Given the description of an element on the screen output the (x, y) to click on. 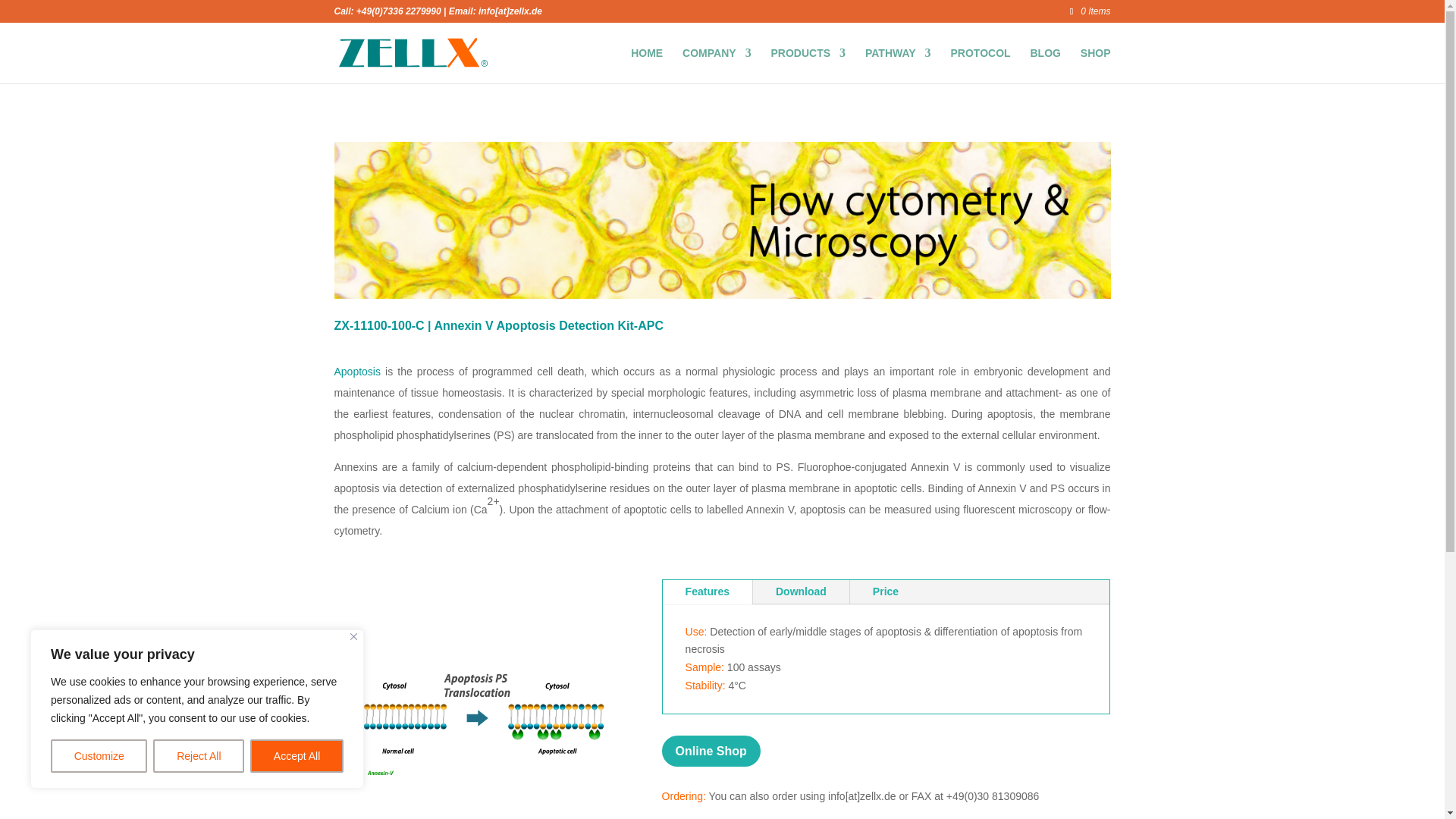
Reject All (198, 756)
HOME (646, 65)
Accept All (296, 756)
COMPANY (716, 65)
0 Items (1090, 10)
Customize (98, 756)
PRODUCTS (808, 65)
PATHWAY (897, 65)
PROTOCOL (980, 65)
